Given the description of an element on the screen output the (x, y) to click on. 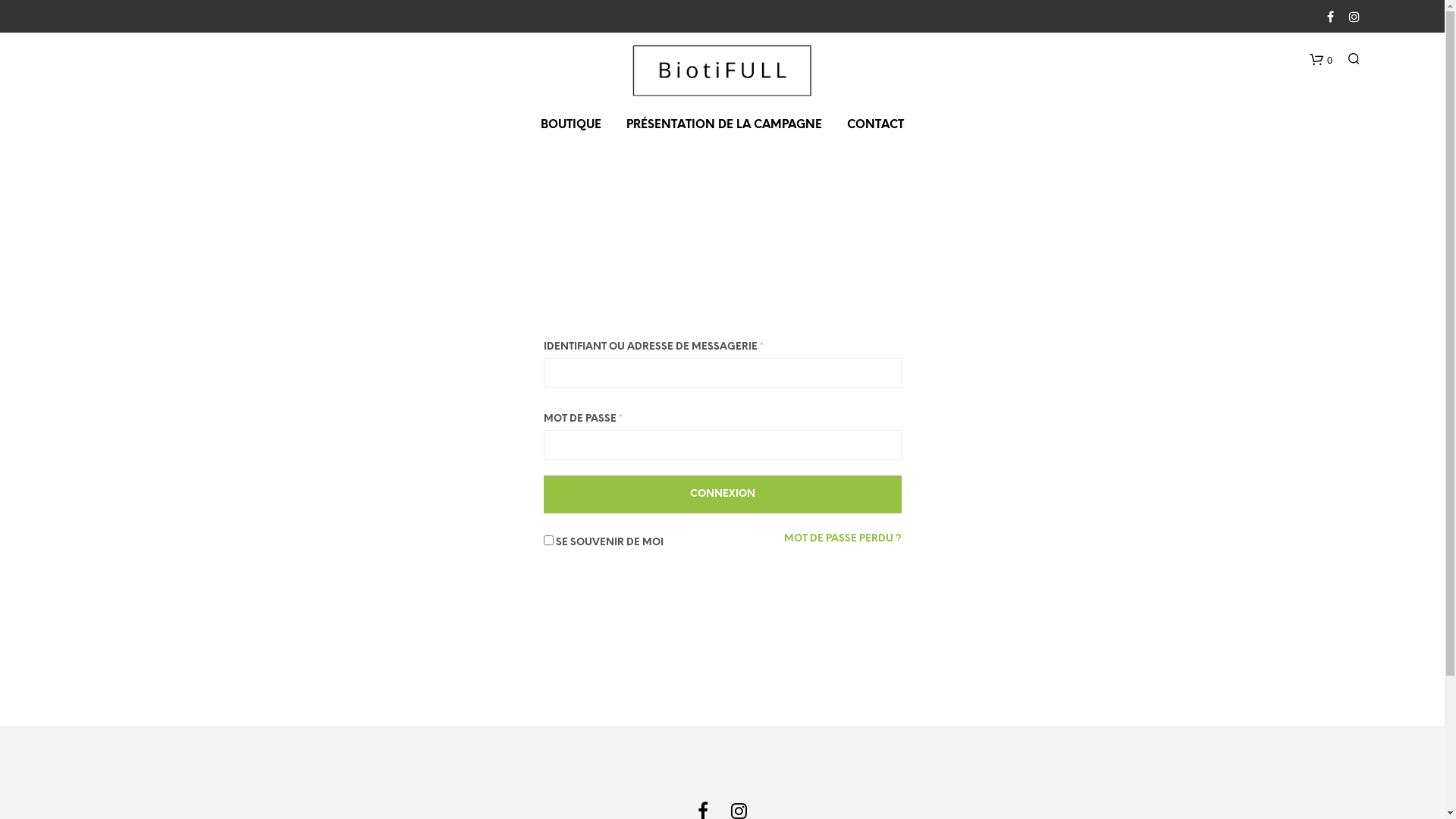
0 Element type: text (1319, 58)
CONTACT Element type: text (875, 125)
BOUTIQUE Element type: text (570, 125)
Connexion Element type: text (721, 494)
MOT DE PASSE PERDU ? Element type: text (842, 538)
Club Performance Synchro Element type: hover (721, 70)
Recherche Element type: text (1082, 692)
